Given the description of an element on the screen output the (x, y) to click on. 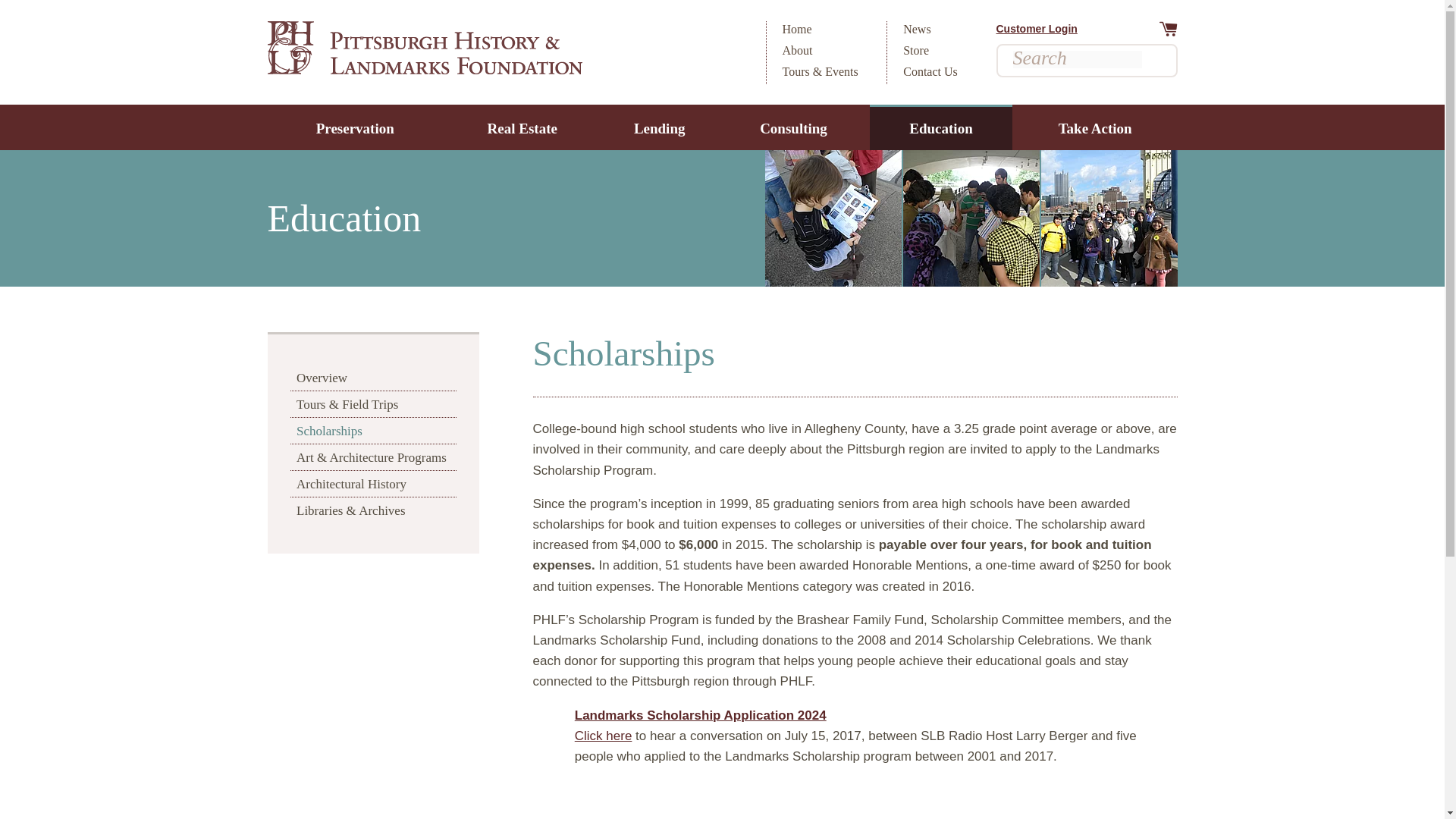
Search (1150, 60)
Search (1150, 60)
